Given the description of an element on the screen output the (x, y) to click on. 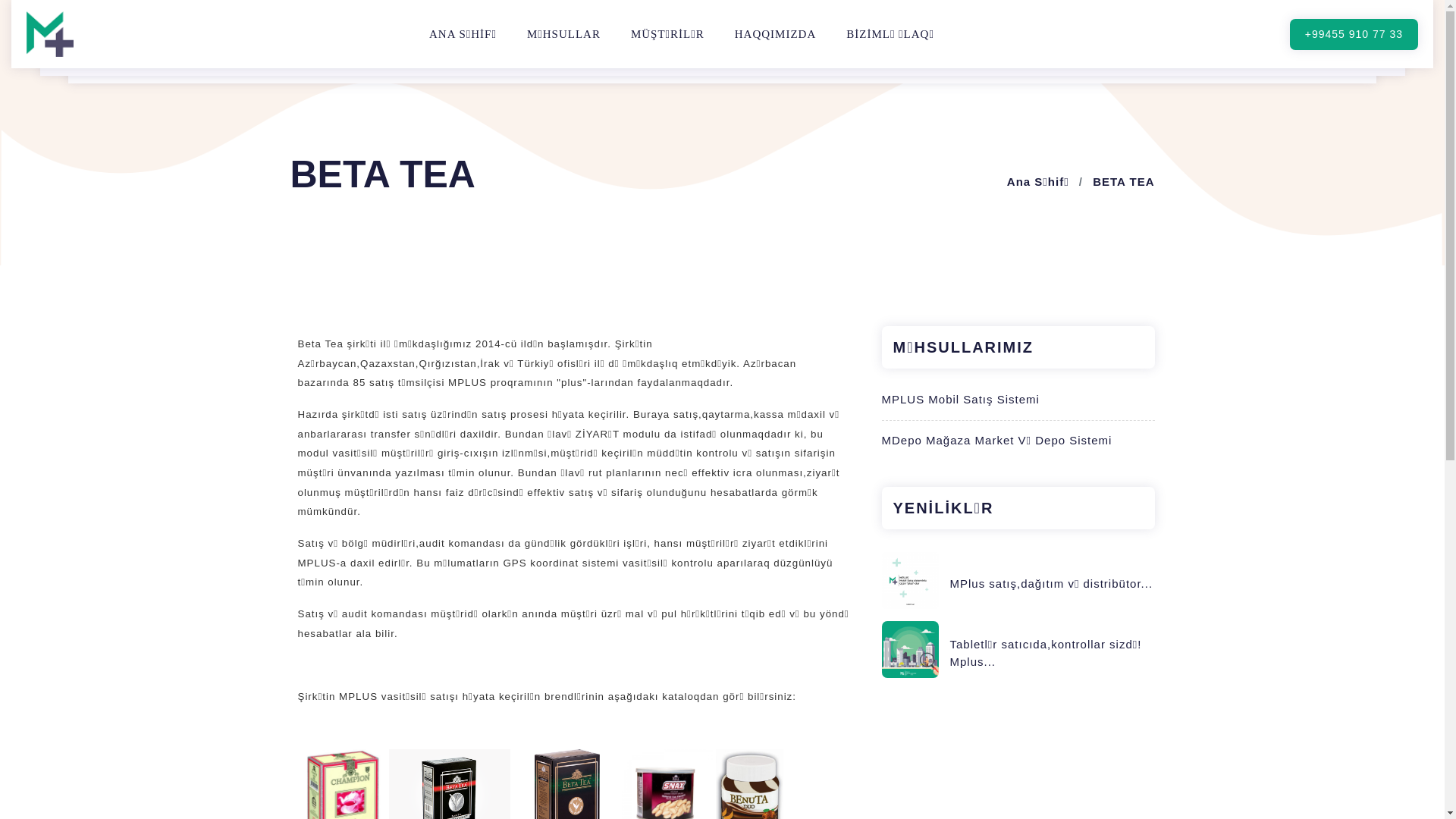
HAQQIMIZDA Element type: text (775, 33)
BETA TEA Element type: text (1123, 181)
+99455 910 77 33 Element type: text (1353, 33)
